Given the description of an element on the screen output the (x, y) to click on. 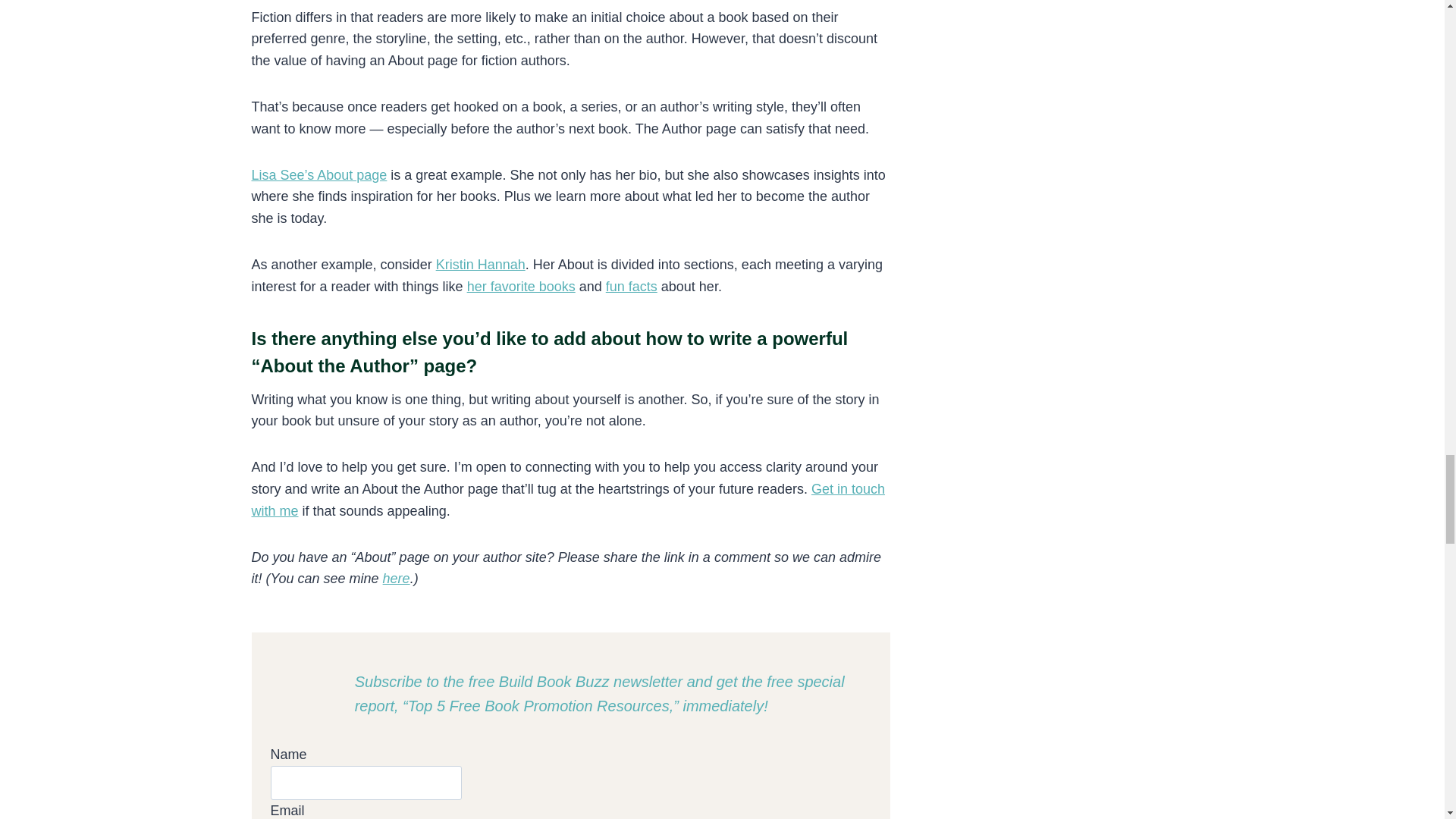
Kristin Hannah (480, 264)
her favorite books (521, 286)
fun facts (631, 286)
here (396, 578)
Get in touch with me (568, 499)
